Given the description of an element on the screen output the (x, y) to click on. 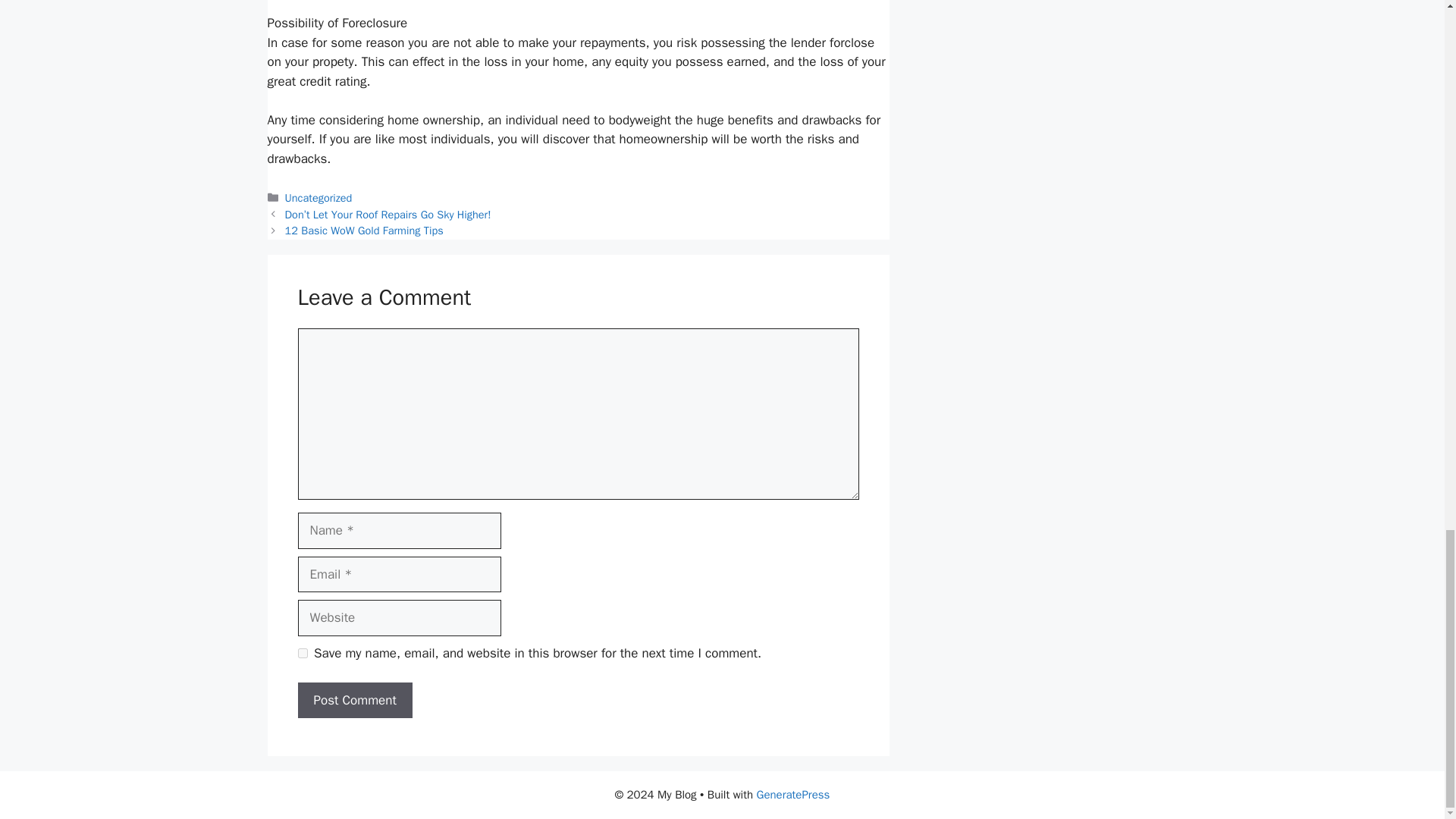
Post Comment (354, 700)
Post Comment (354, 700)
yes (302, 653)
GeneratePress (793, 794)
Uncategorized (318, 197)
12 Basic WoW Gold Farming Tips (364, 230)
